Given the description of an element on the screen output the (x, y) to click on. 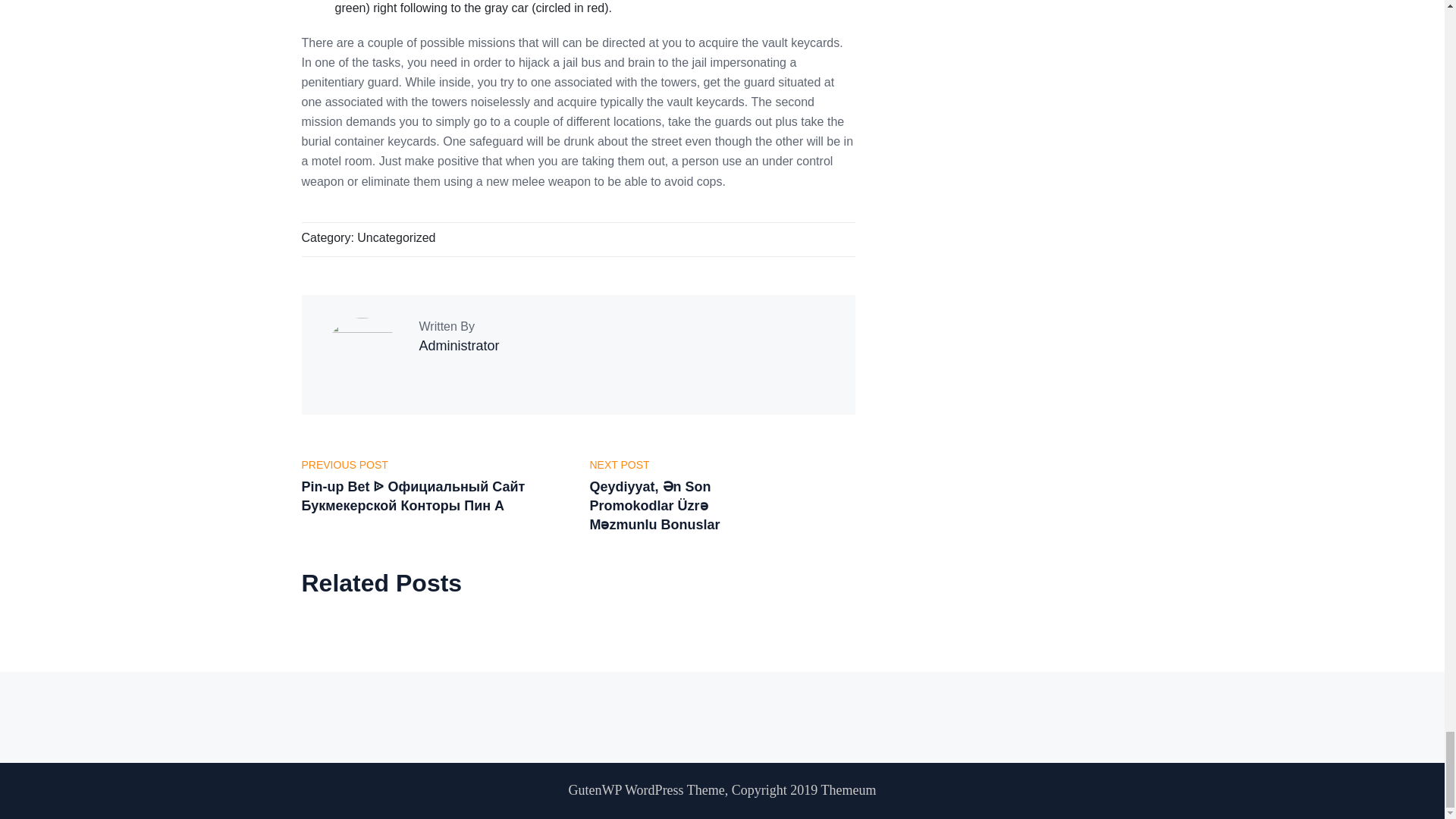
Posts by Administrator (459, 345)
